Given the description of an element on the screen output the (x, y) to click on. 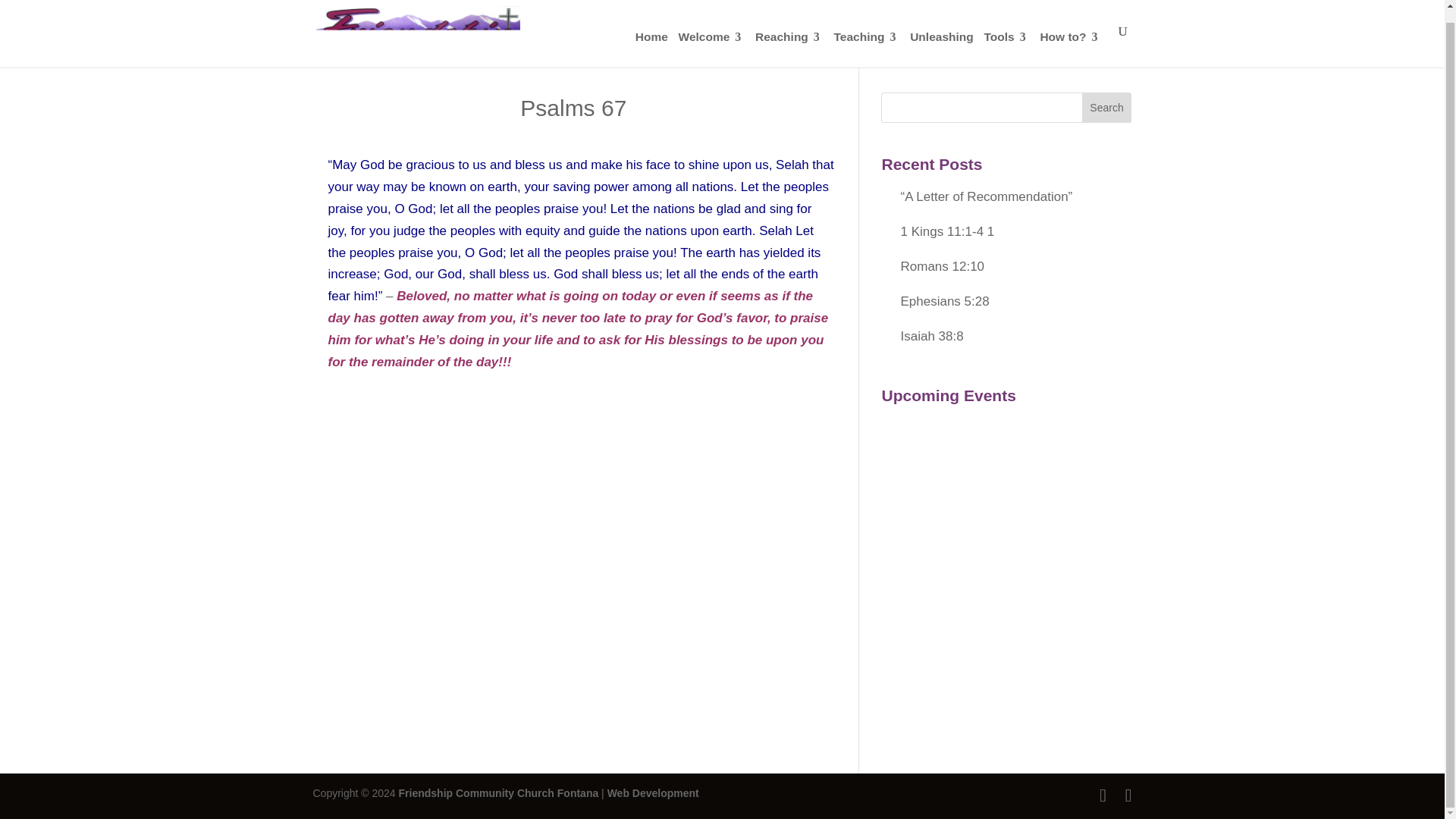
Search (1106, 107)
Welcome (711, 37)
Web Biz Strategy (652, 793)
Reaching (789, 37)
Teaching (866, 37)
Tools (1006, 37)
Unleashing (942, 37)
